Given the description of an element on the screen output the (x, y) to click on. 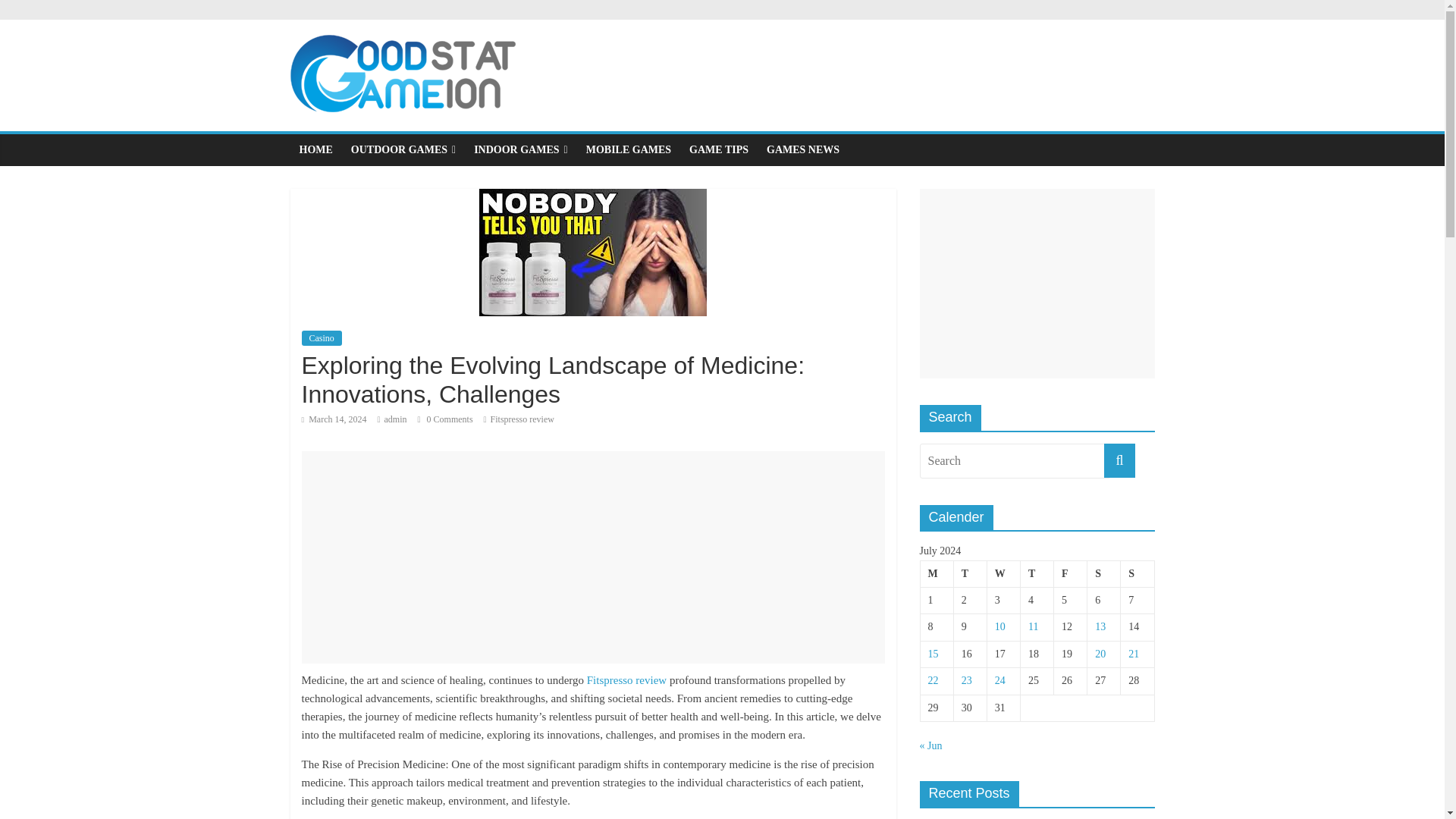
15 (933, 654)
MOBILE GAMES (627, 150)
Saturday (1104, 573)
0 Comments (445, 419)
March 14, 2024 (333, 419)
Friday (1070, 573)
24 (1000, 680)
23 (966, 680)
Advertisement (1036, 283)
Thursday (1036, 573)
GAME TIPS (718, 150)
10 (1000, 626)
7:11 am (333, 419)
21 (1133, 654)
INDOOR GAMES (520, 150)
